Given the description of an element on the screen output the (x, y) to click on. 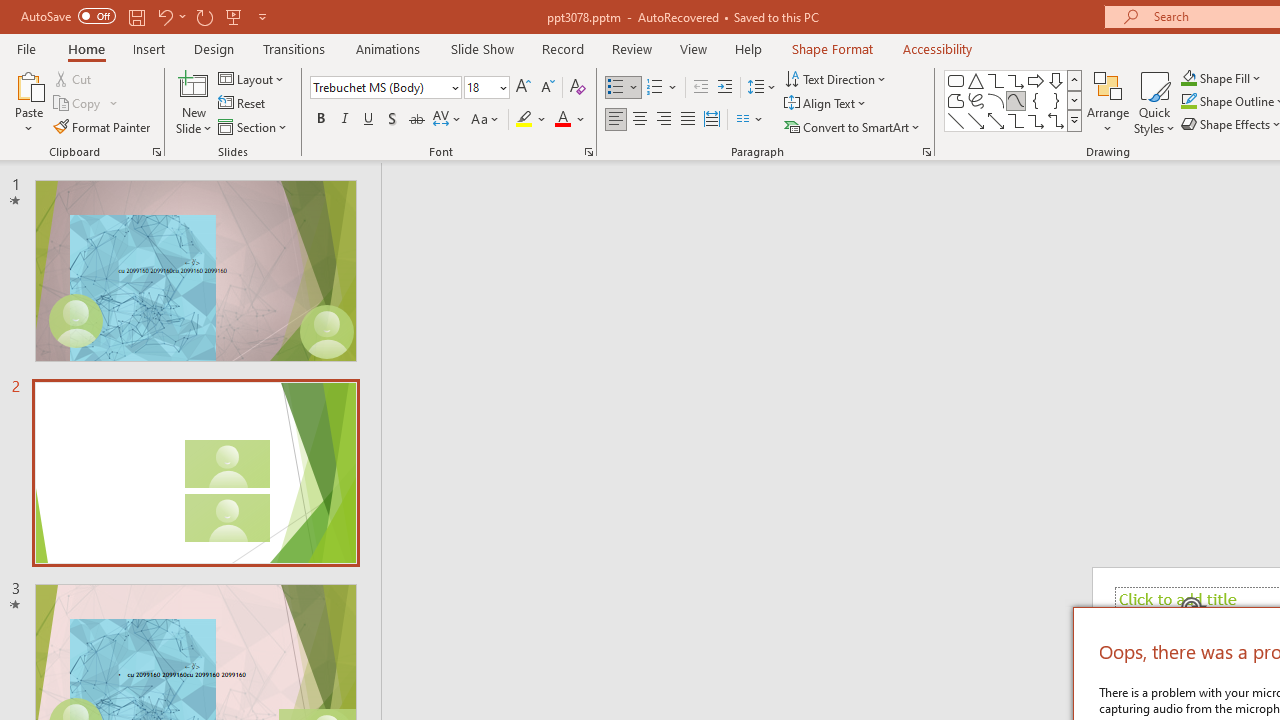
Connector: Elbow Double-Arrow (1055, 120)
